Given the description of an element on the screen output the (x, y) to click on. 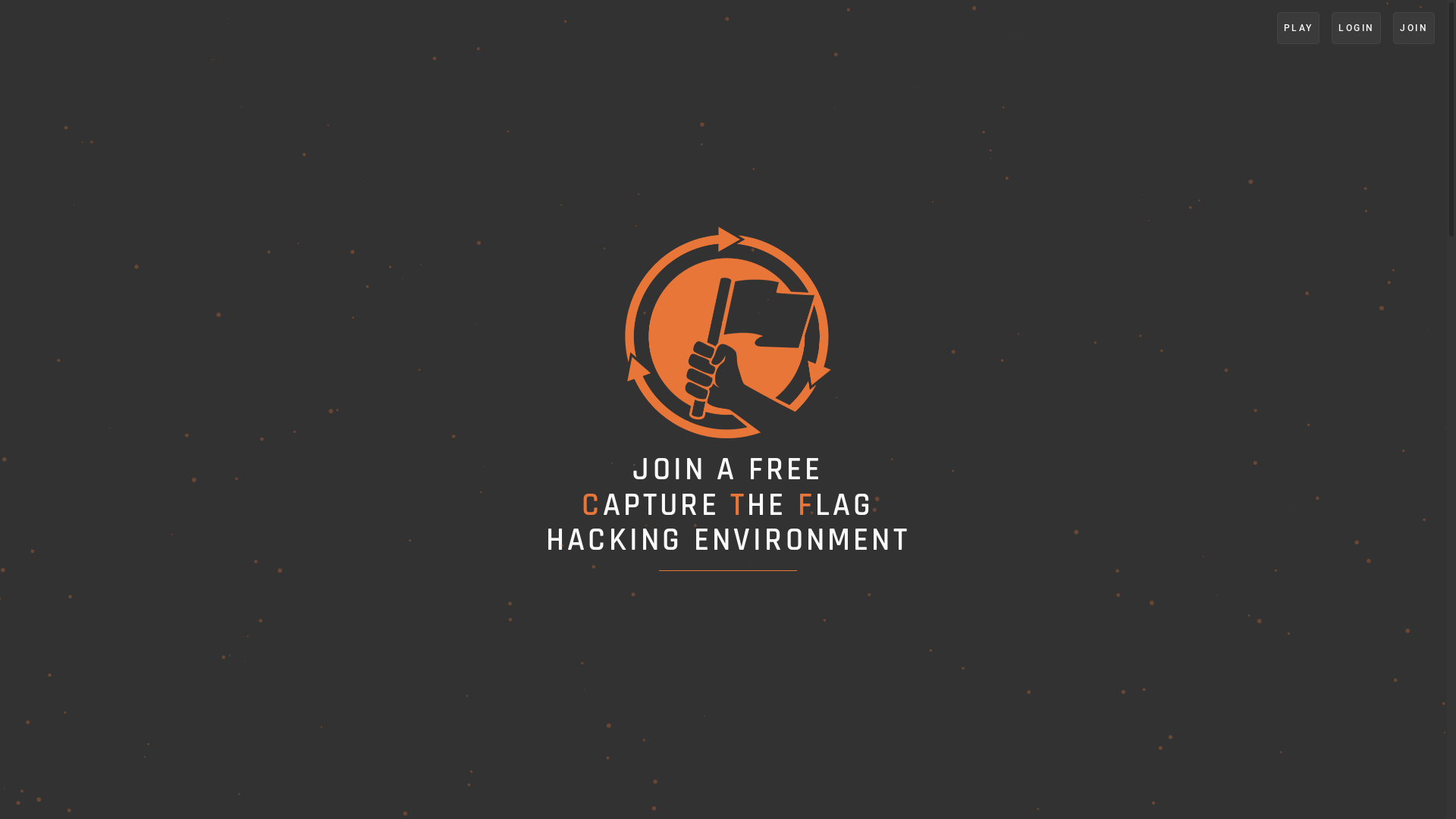
JOIN Element type: text (1413, 27)
PLAY Element type: text (1298, 27)
LOGIN Element type: text (1355, 27)
